Given the description of an element on the screen output the (x, y) to click on. 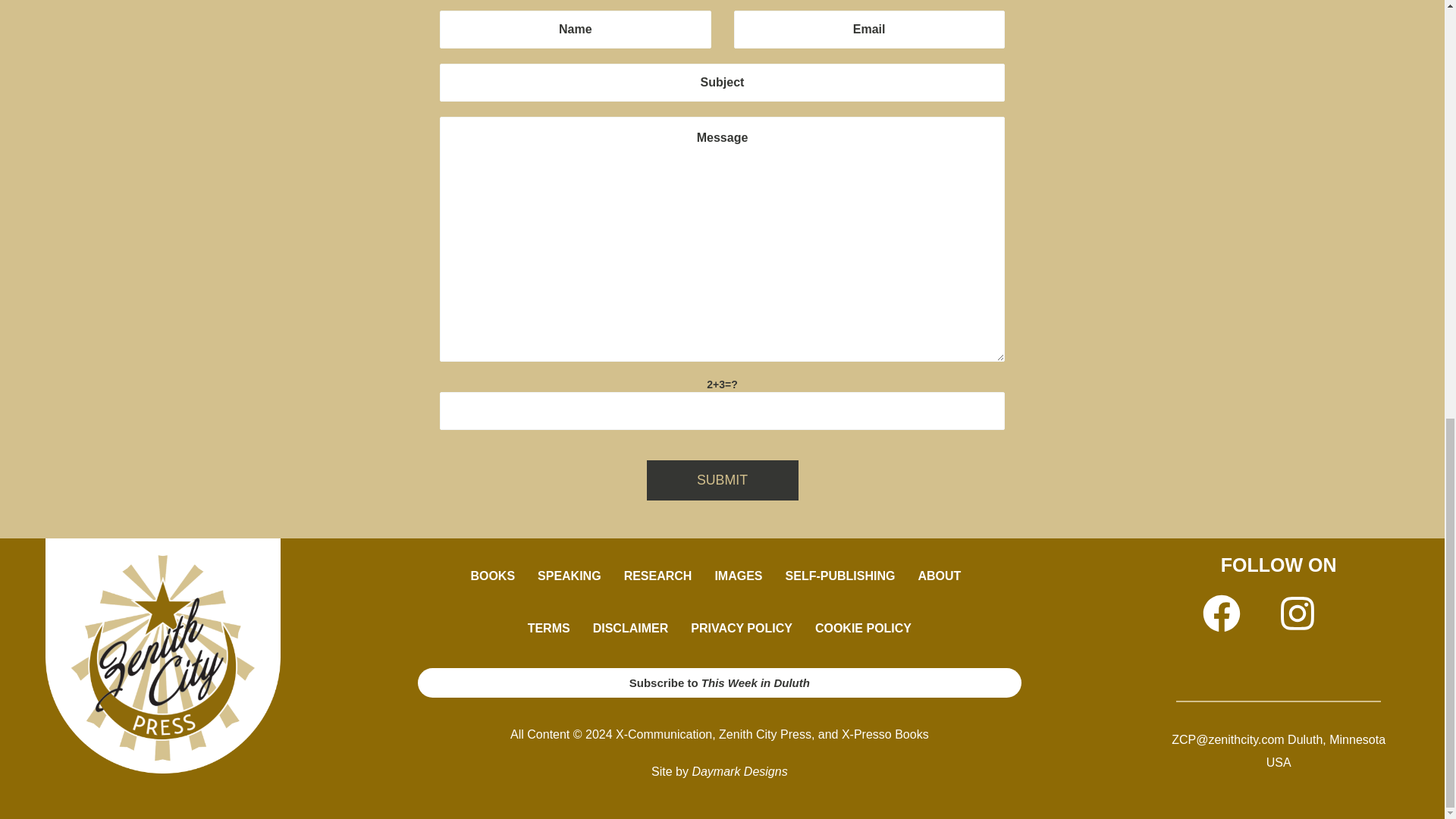
RESEARCH (657, 575)
IMAGES (738, 575)
COOKIE POLICY (863, 628)
Submit (721, 480)
ABOUT (942, 575)
SELF-PUBLISHING (840, 575)
SPEAKING (568, 575)
DISCLAIMER (629, 628)
Submit (721, 480)
